Given the description of an element on the screen output the (x, y) to click on. 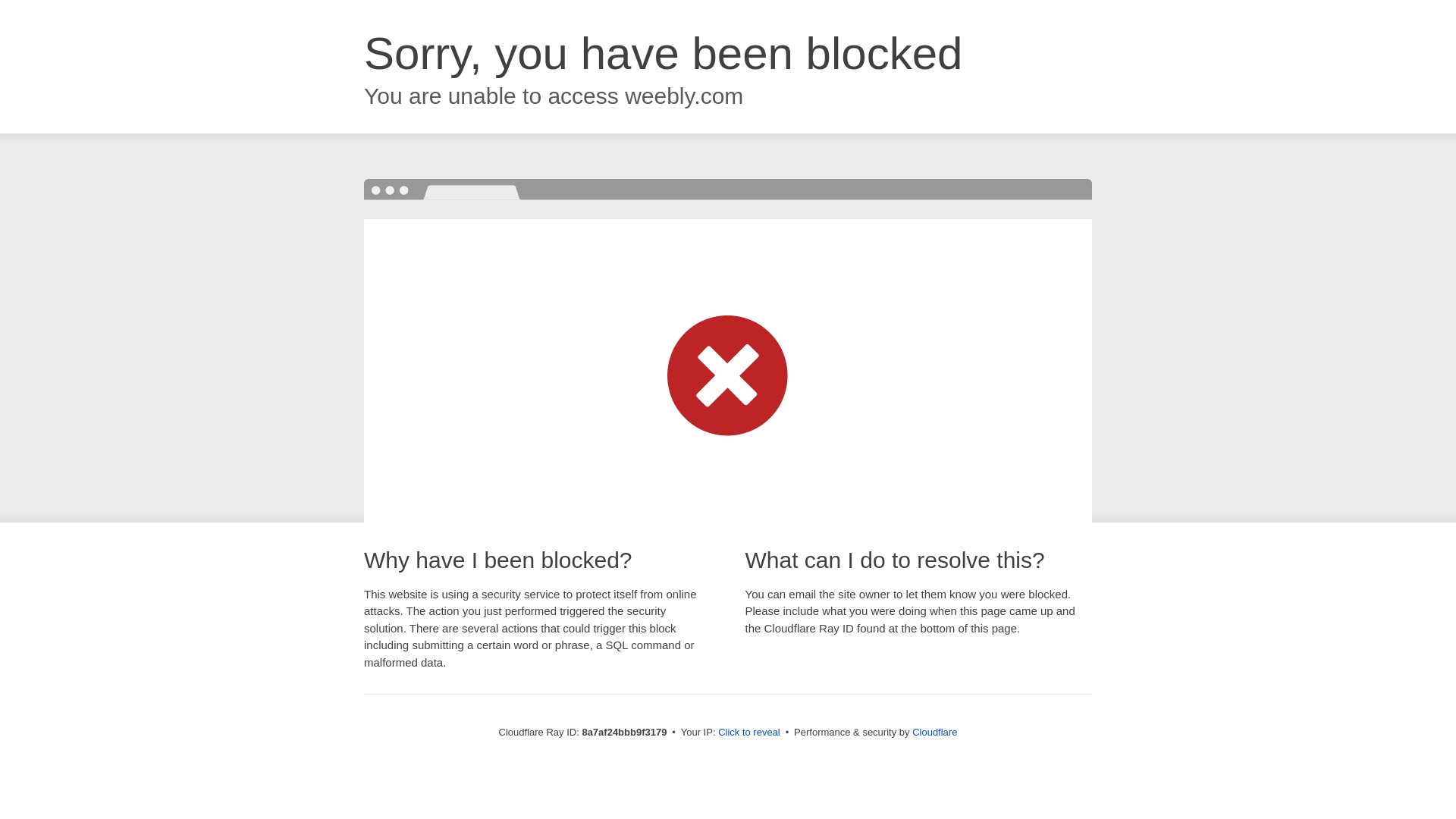
Click to reveal (748, 732)
Cloudflare (934, 731)
